Given the description of an element on the screen output the (x, y) to click on. 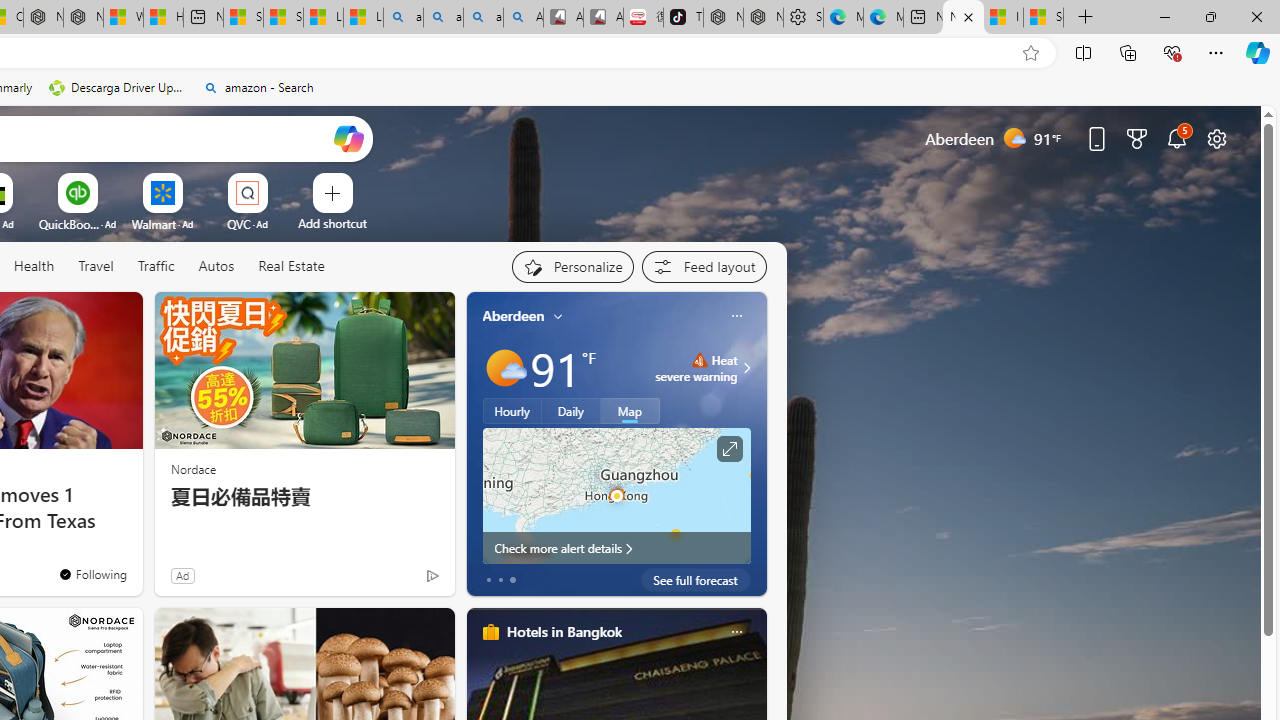
I Gained 20 Pounds of Muscle in 30 Days! | Watch (1003, 17)
Mostly sunny (504, 368)
hotels-header-icon (490, 632)
Hotels in Bangkok (563, 631)
